Given the description of an element on the screen output the (x, y) to click on. 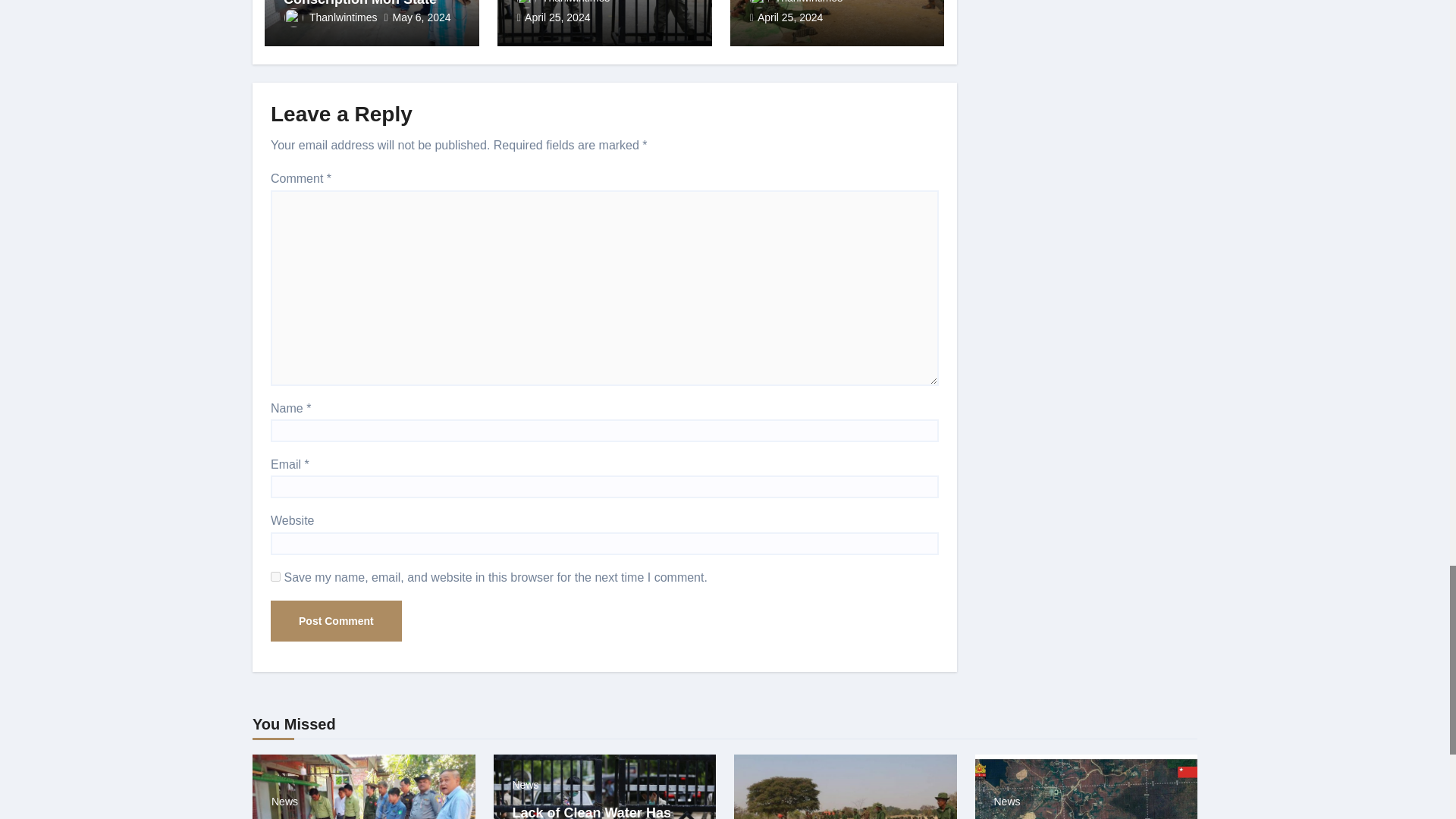
yes (275, 576)
Post Comment (335, 620)
